Given the description of an element on the screen output the (x, y) to click on. 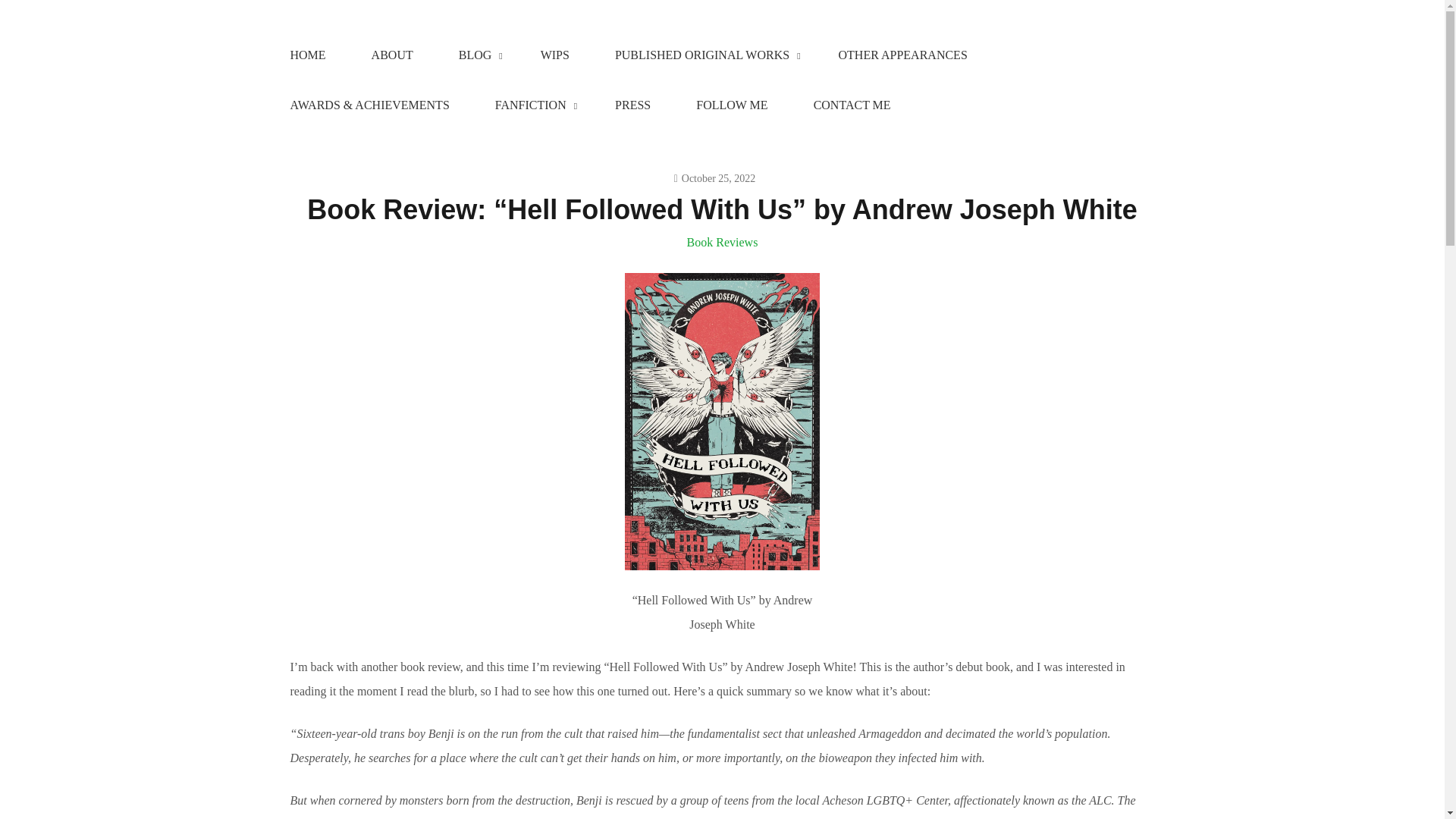
Book Reviews (722, 241)
HOME (306, 55)
Claris Lam (341, 39)
PRESS (632, 105)
OTHER APPEARANCES (902, 55)
PUBLISHED ORIGINAL WORKS (703, 55)
CONTACT ME (852, 105)
BLOG (476, 55)
ABOUT (392, 55)
October 25, 2022 (714, 178)
FOLLOW ME (731, 105)
FANFICTION (531, 105)
WIPS (555, 55)
